Given the description of an element on the screen output the (x, y) to click on. 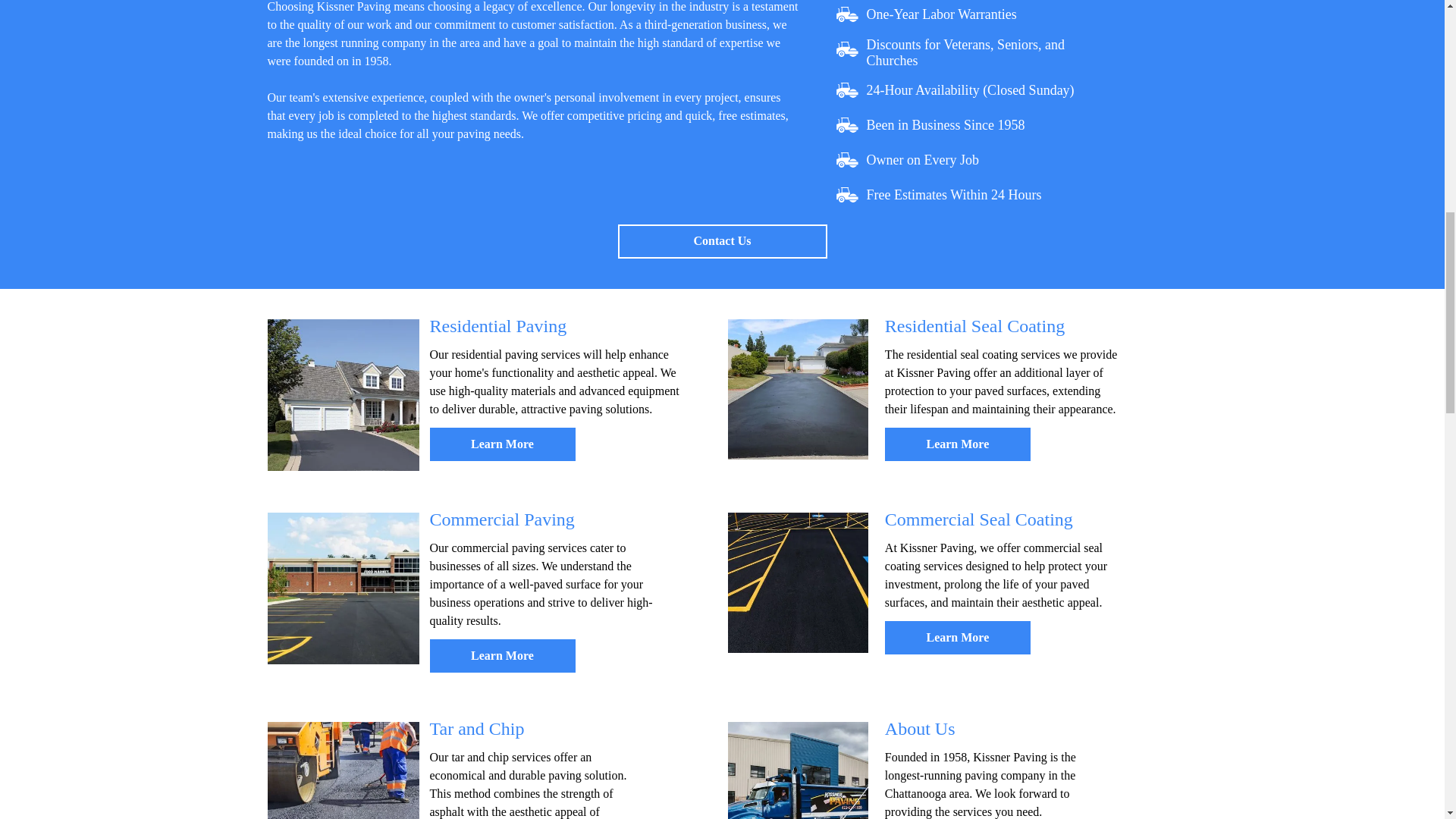
Learn More (502, 444)
Learn More (957, 444)
Learn More (957, 636)
Learn More (502, 654)
Contact Us (722, 241)
